Given the description of an element on the screen output the (x, y) to click on. 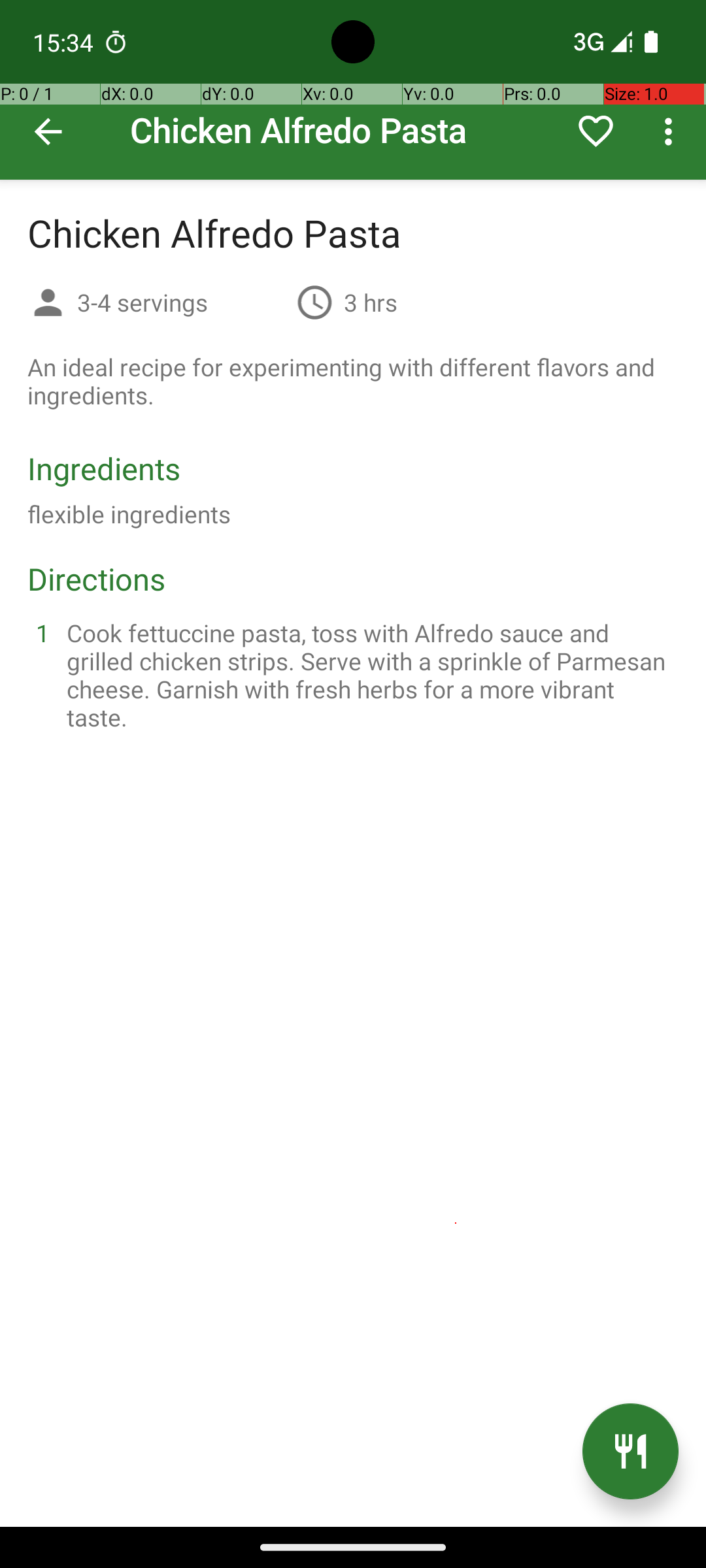
Cook fettuccine pasta, toss with Alfredo sauce and grilled chicken strips. Serve with a sprinkle of Parmesan cheese. Garnish with fresh herbs for a more vibrant taste. Element type: android.widget.TextView (368, 674)
